Given the description of an element on the screen output the (x, y) to click on. 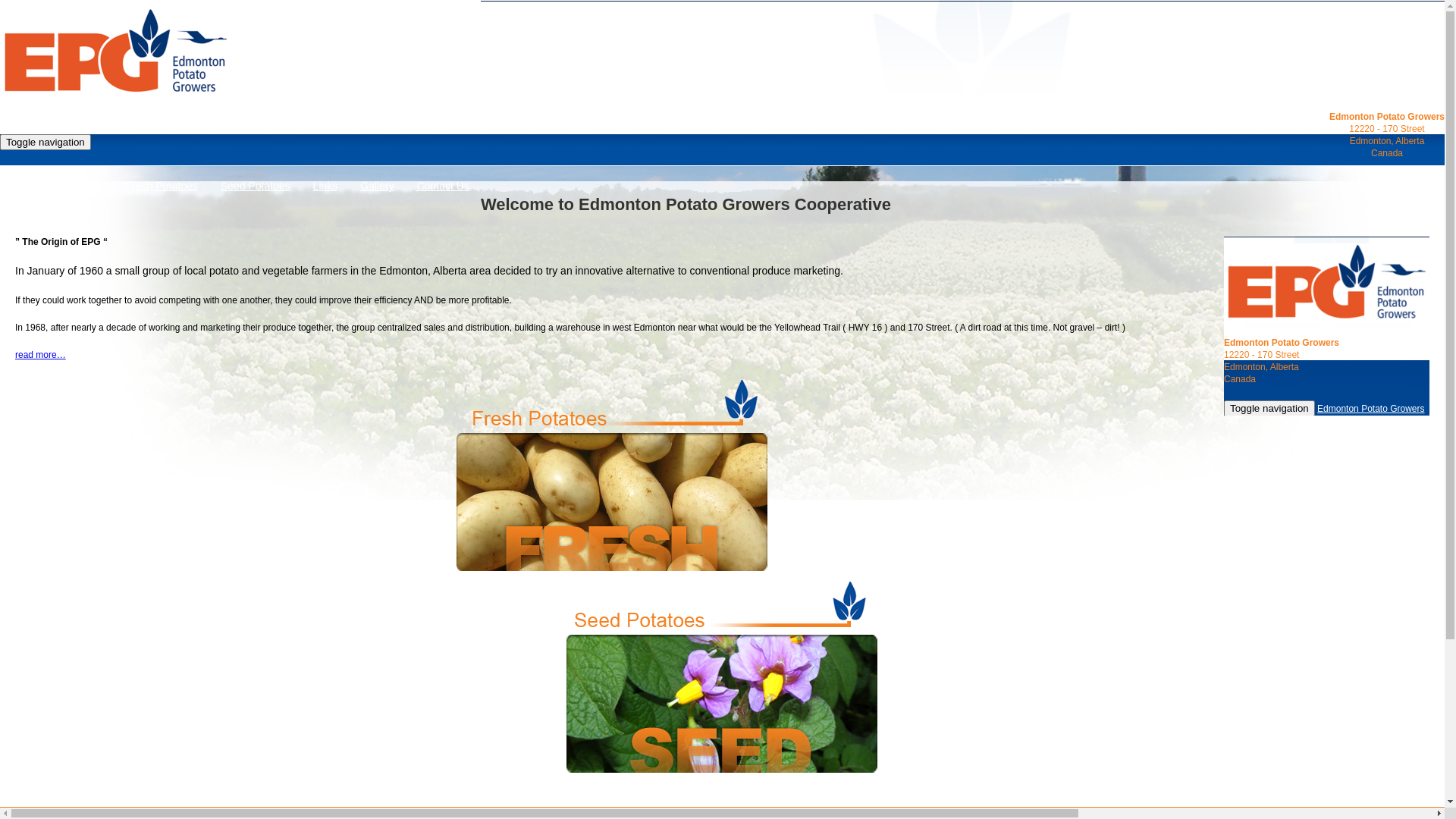
Toggle navigation Element type: text (45, 142)
Gallery Element type: text (376, 185)
Home Element type: text (25, 185)
Varieties Element type: text (81, 185)
Fresh Potatoes Element type: text (161, 185)
Edmonton Potato Growers Element type: hover (115, 51)
Contact Us Element type: text (442, 185)
Links Element type: text (325, 185)
Seed Potatoes Element type: text (255, 185)
